Given the description of an element on the screen output the (x, y) to click on. 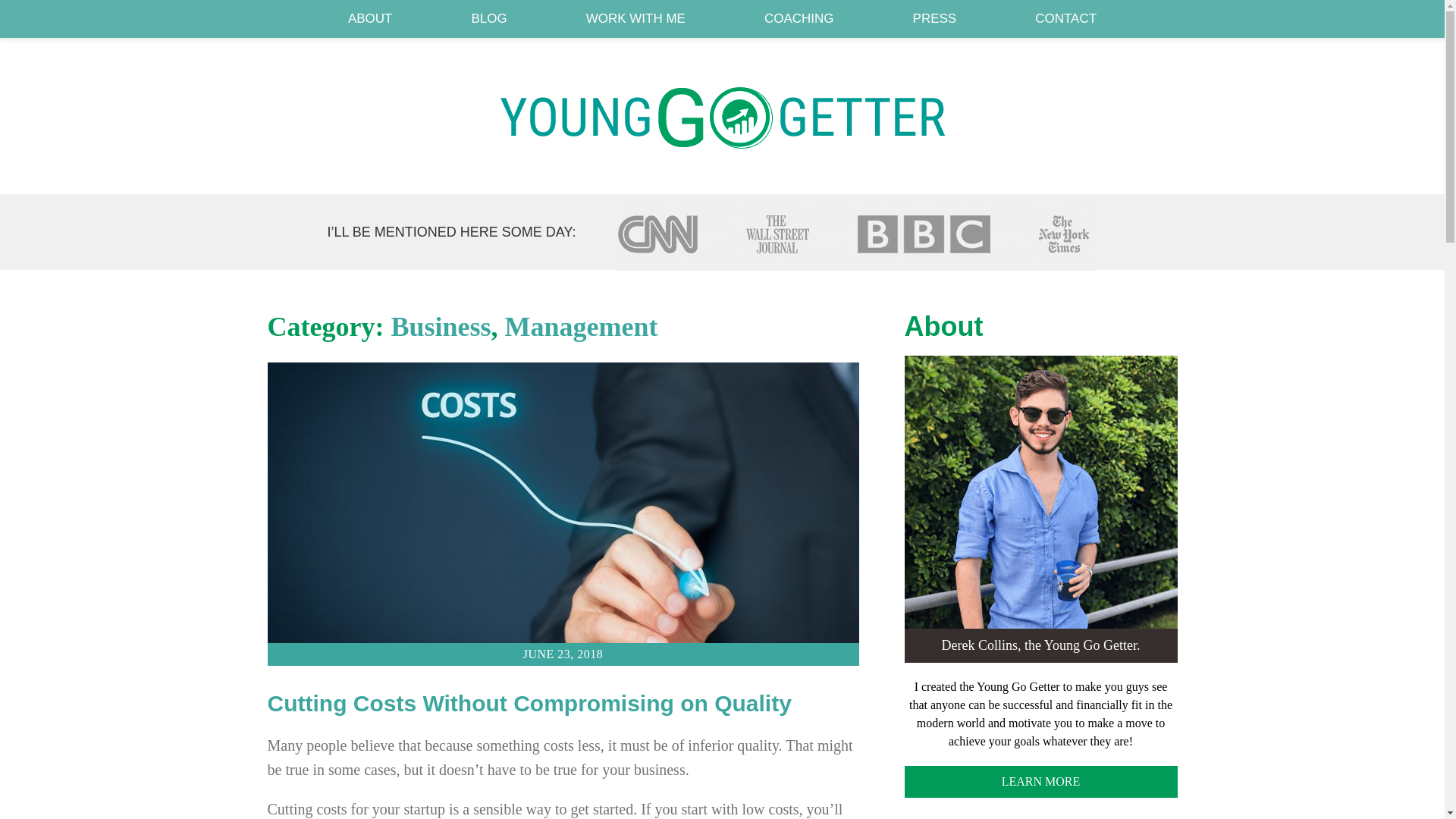
BLOG (488, 18)
COACHING (799, 18)
PRESS (934, 18)
Management (581, 327)
Business (440, 327)
CONTACT (1065, 18)
ABOUT (370, 18)
LEARN MORE (1040, 781)
WORK WITH ME (635, 18)
